Given the description of an element on the screen output the (x, y) to click on. 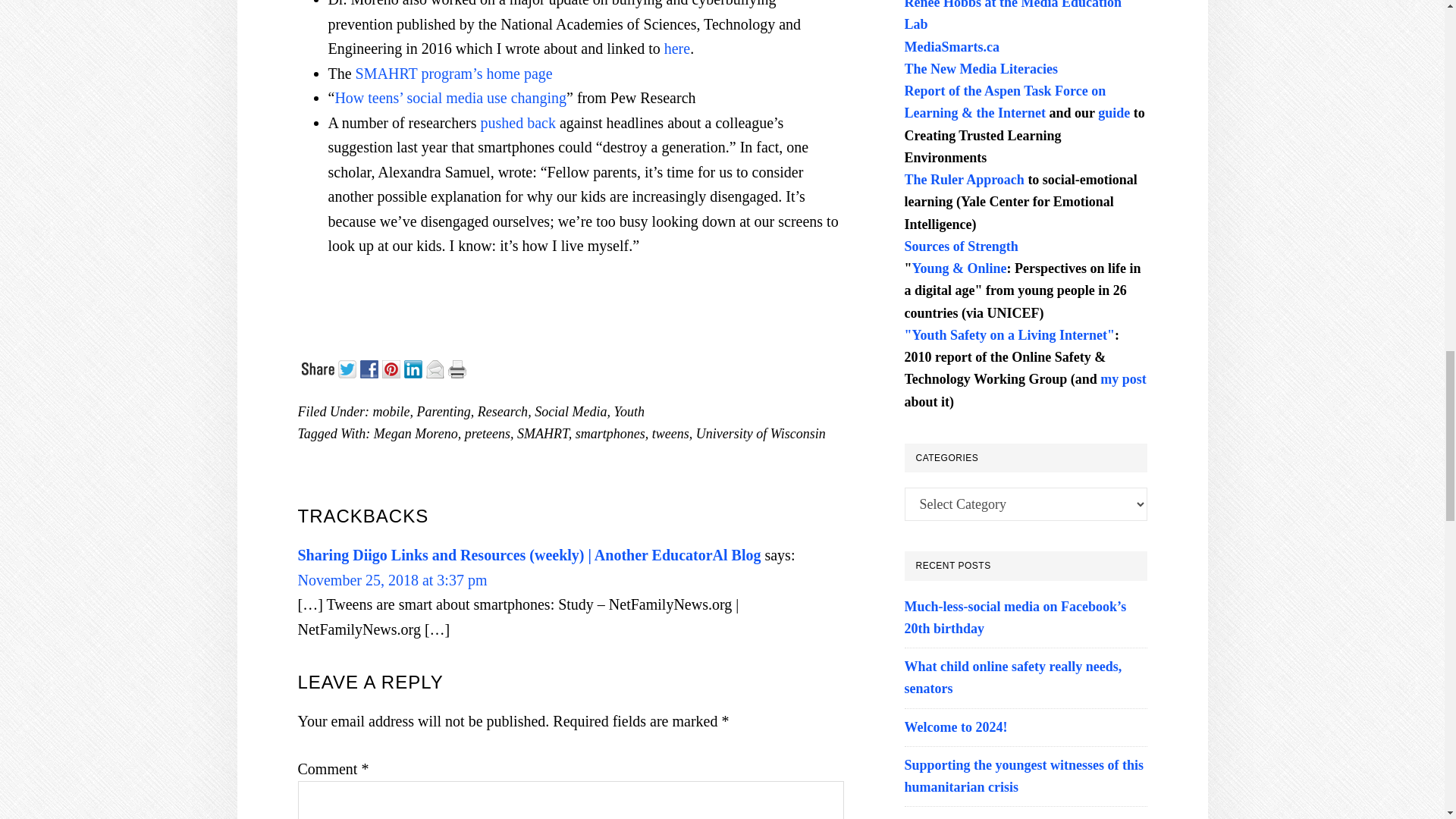
Email (437, 367)
Pinterest (392, 367)
Parenting (443, 411)
Facebook (370, 367)
mobile (390, 411)
Linkedin (414, 367)
pushed back (518, 122)
Twitter (348, 367)
here (676, 48)
Print (457, 367)
